Given the description of an element on the screen output the (x, y) to click on. 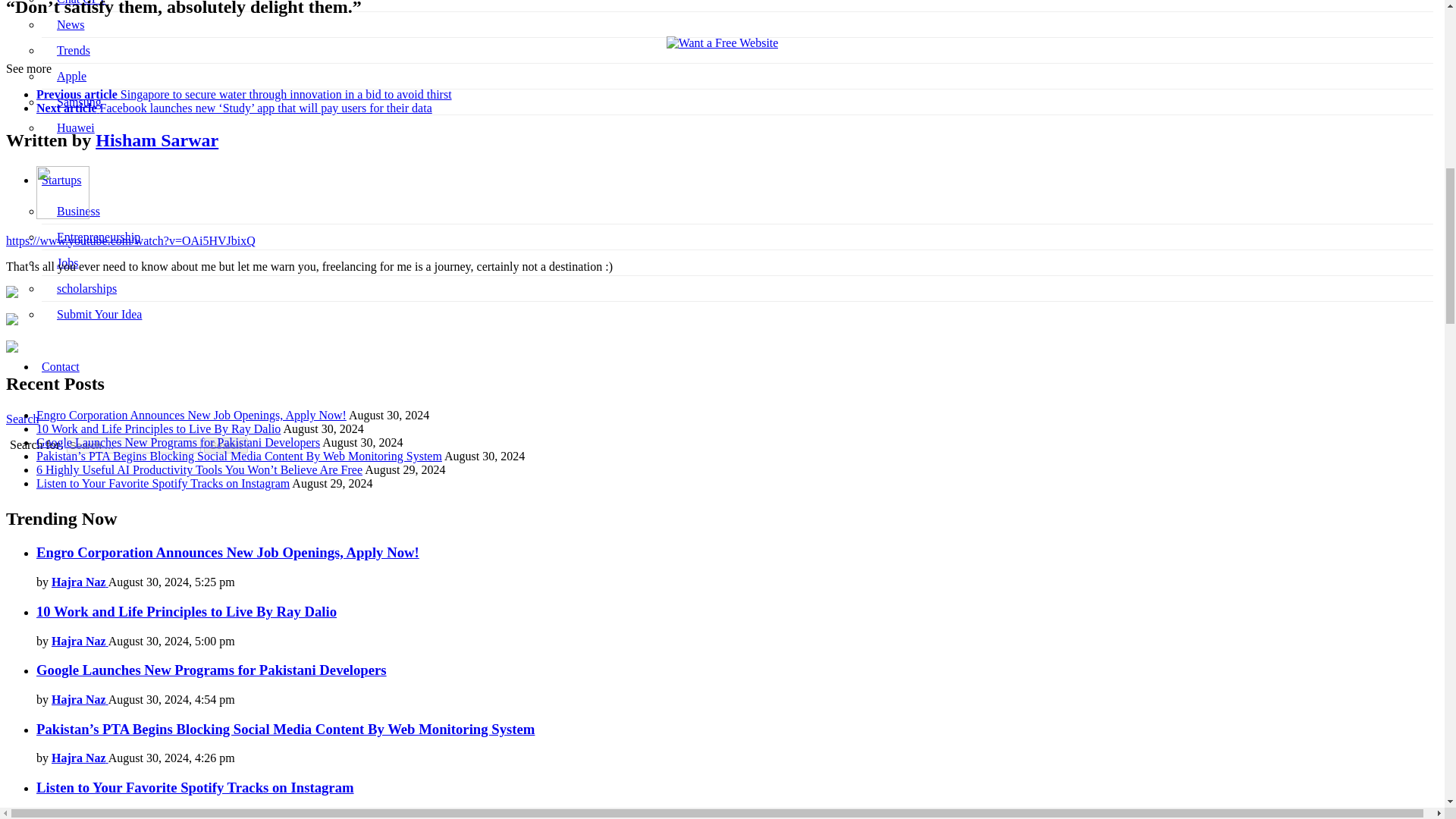
Posts by Hajra Naz (78, 640)
Posts by Hajra Naz (78, 757)
Want a Free Website (722, 42)
Posts by Hajra Naz (78, 698)
Search (225, 445)
Search for: (133, 445)
Startups (61, 179)
Posts by Hajra Naz (78, 581)
Search (225, 445)
Posts by Hajra Naz (78, 814)
